Given the description of an element on the screen output the (x, y) to click on. 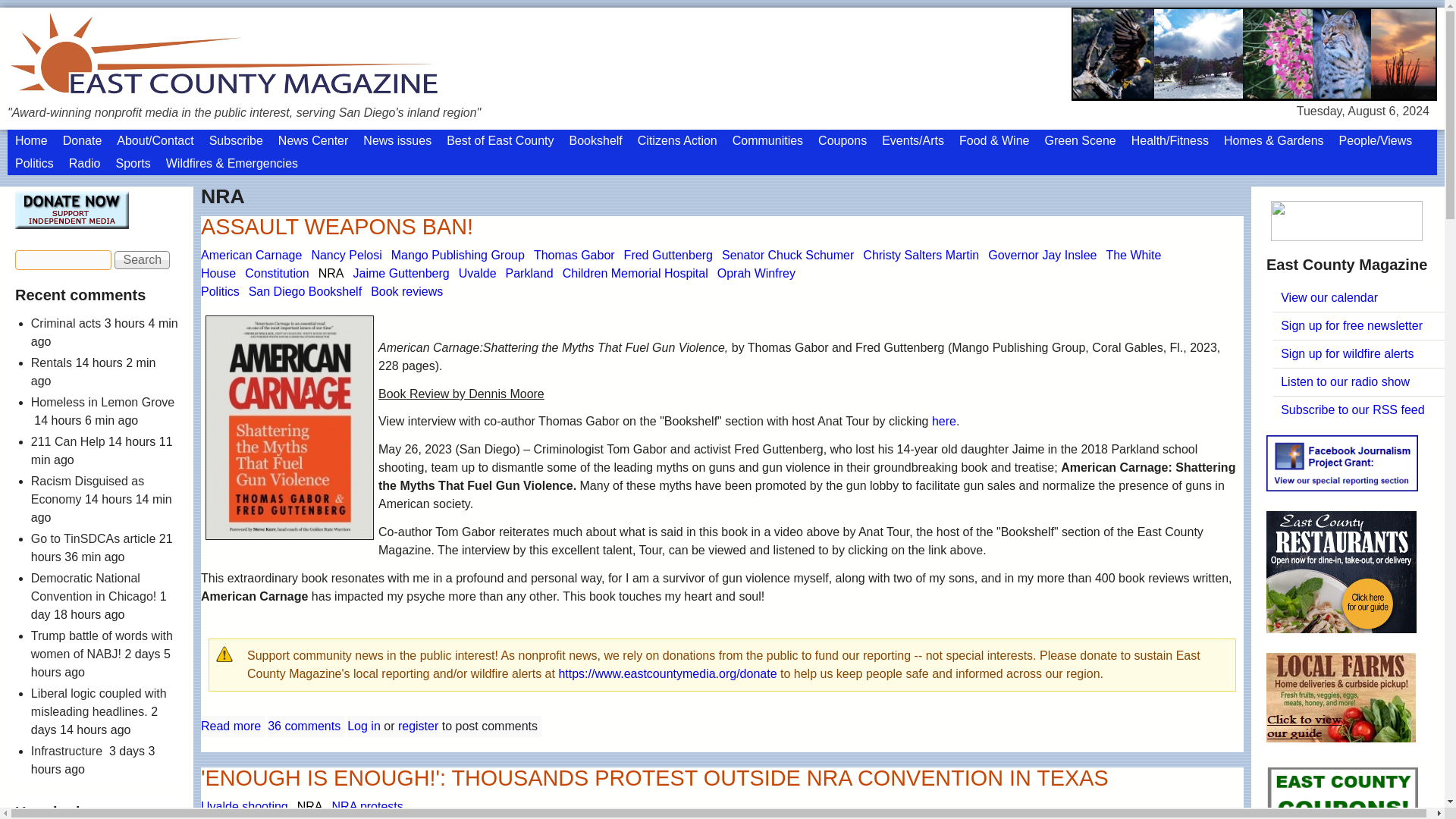
Home (31, 140)
Search (142, 259)
News issues (397, 140)
Best of East County (499, 140)
News Center (312, 140)
Donate (82, 140)
Subscribe (236, 140)
